Given the description of an element on the screen output the (x, y) to click on. 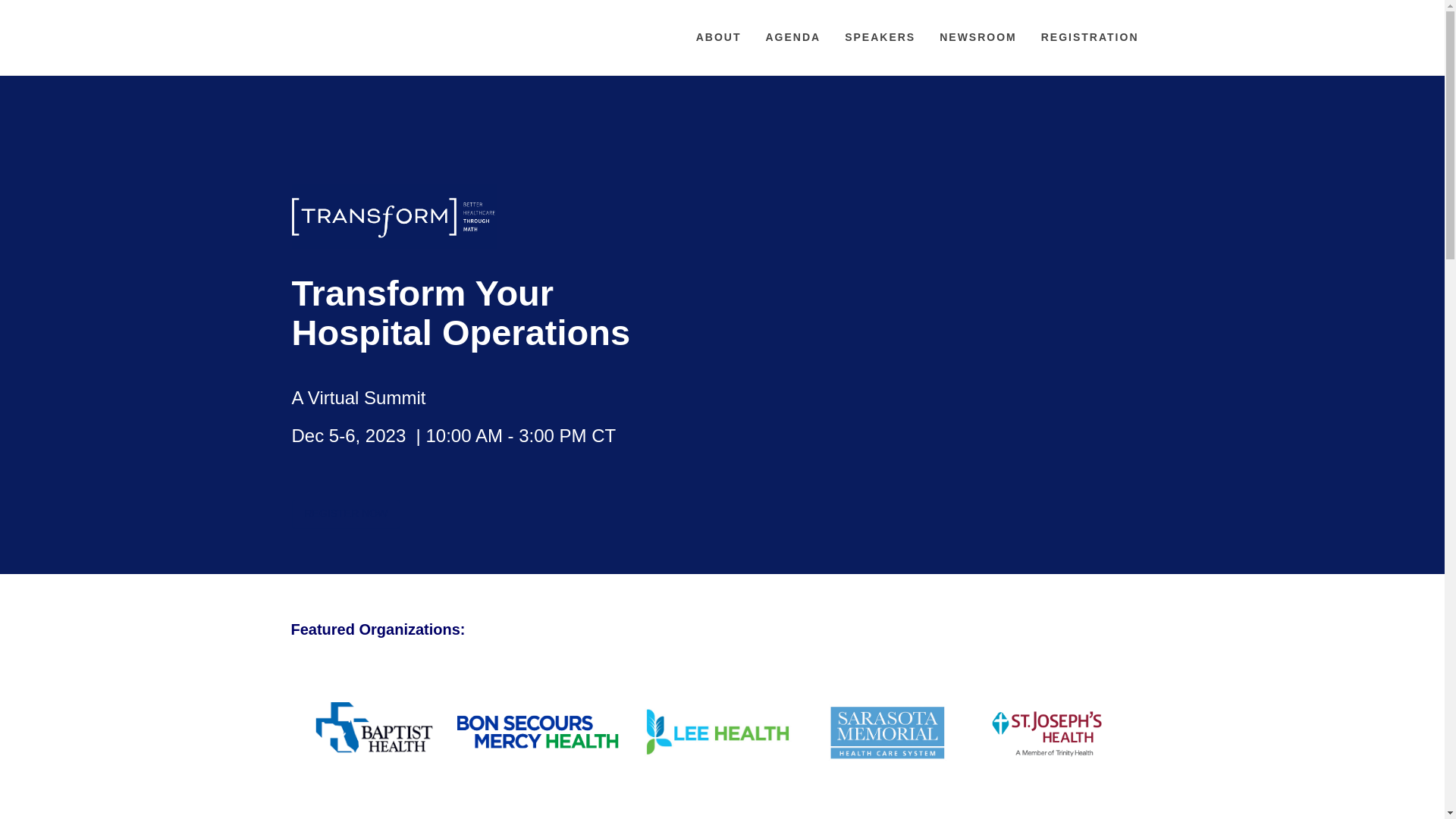
SPEAKERS (879, 37)
REGISTRATION (1089, 37)
REGISTER NOW (345, 513)
AGENDA (792, 37)
ABOUT (718, 37)
NEWSROOM (978, 37)
